Given the description of an element on the screen output the (x, y) to click on. 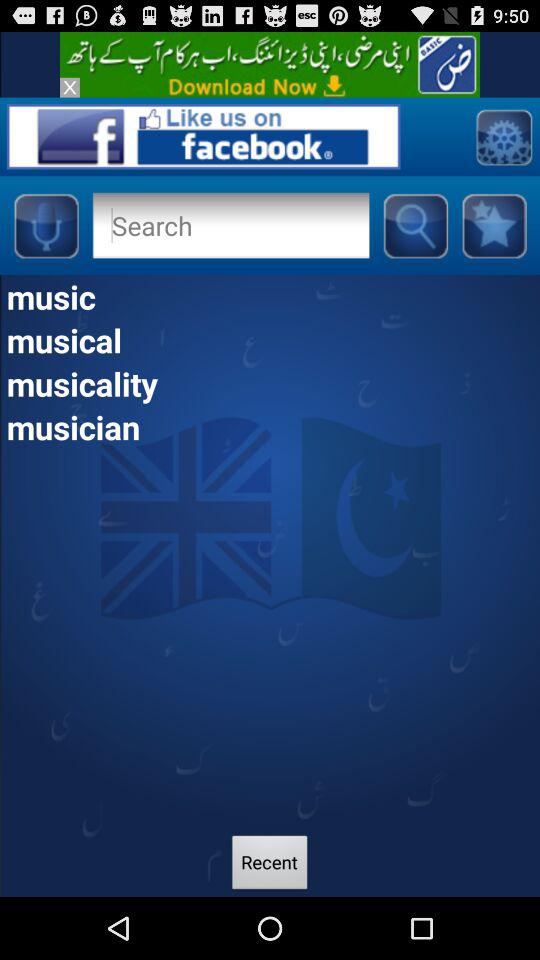
select button above the recent button (270, 426)
